Given the description of an element on the screen output the (x, y) to click on. 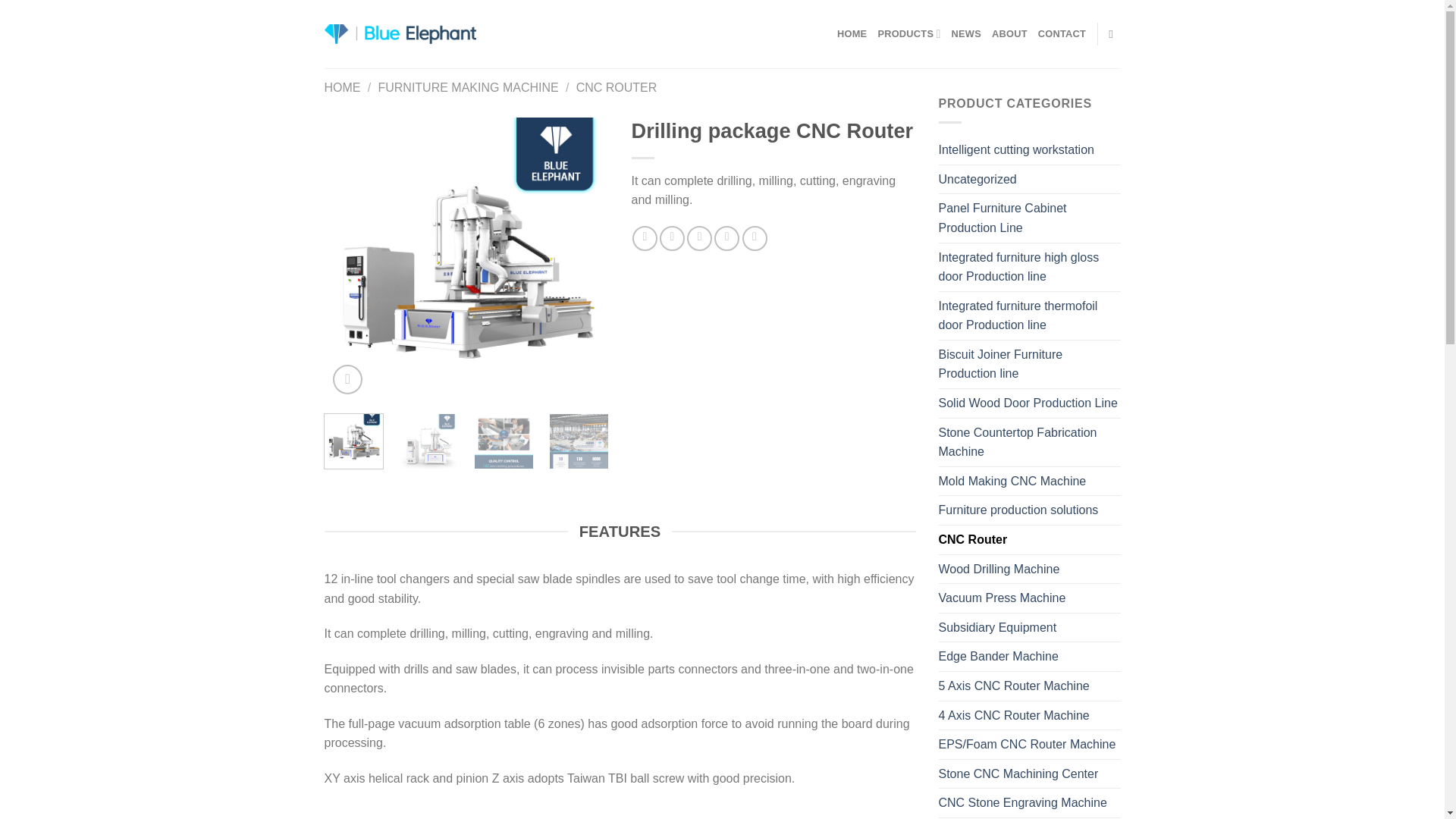
FURNITURE MAKING MACHINE (467, 87)
Blue Elephant CNC (400, 34)
NEWS (966, 33)
Drilling package CNC Router (466, 259)
HOME (851, 33)
CONTACT (1062, 33)
HOME (342, 87)
PRODUCTS (908, 33)
ABOUT (1009, 33)
